Given the description of an element on the screen output the (x, y) to click on. 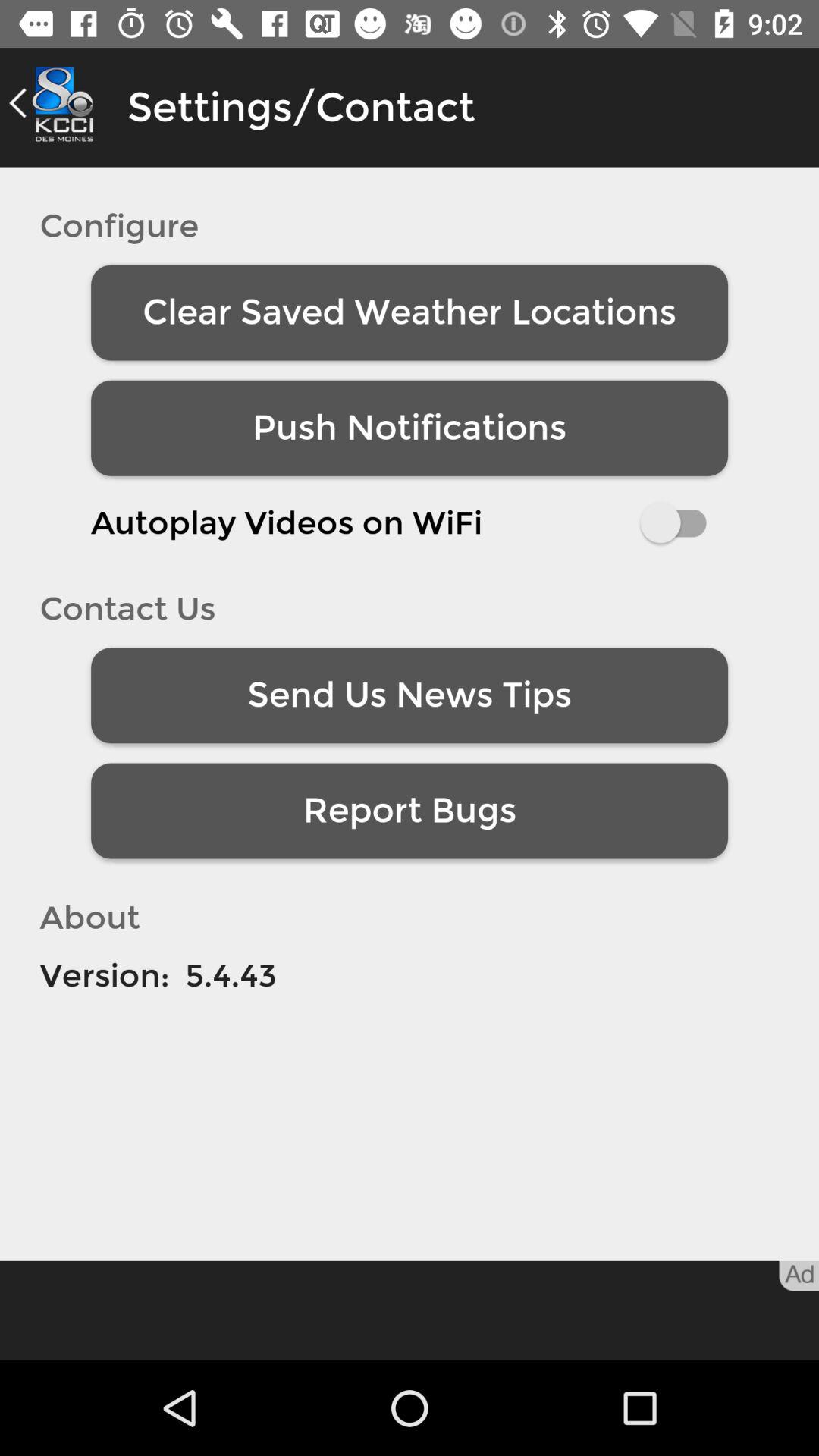
click the icon to the left of the 5.4.43 icon (104, 975)
